Given the description of an element on the screen output the (x, y) to click on. 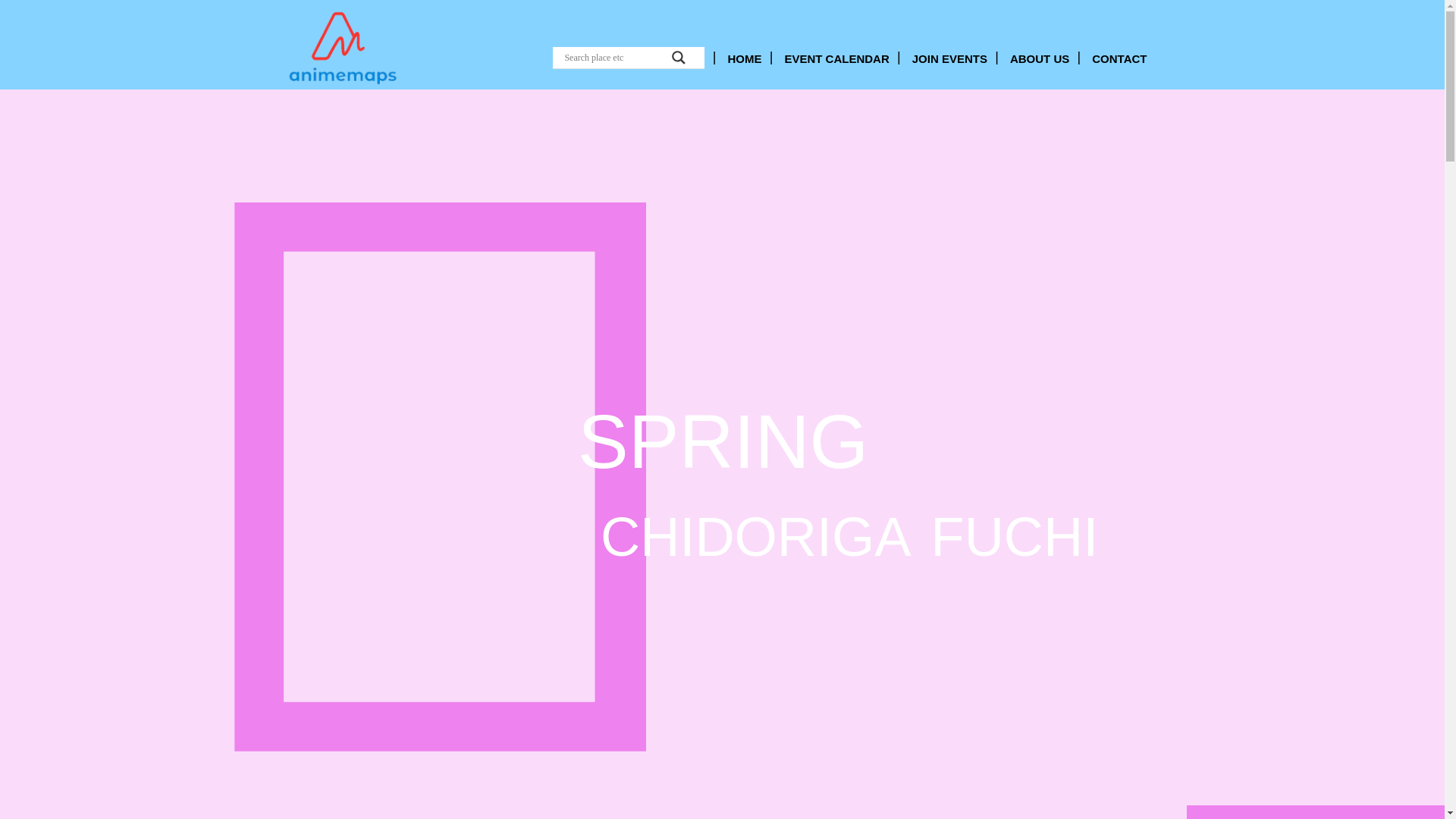
SPRING (1218, 812)
EVENT CALENDAR (836, 58)
JOIN EVENTS (949, 58)
ABOUT US (1039, 58)
CONTACT (1119, 58)
FALL (1348, 812)
SPRING (1283, 812)
